Given the description of an element on the screen output the (x, y) to click on. 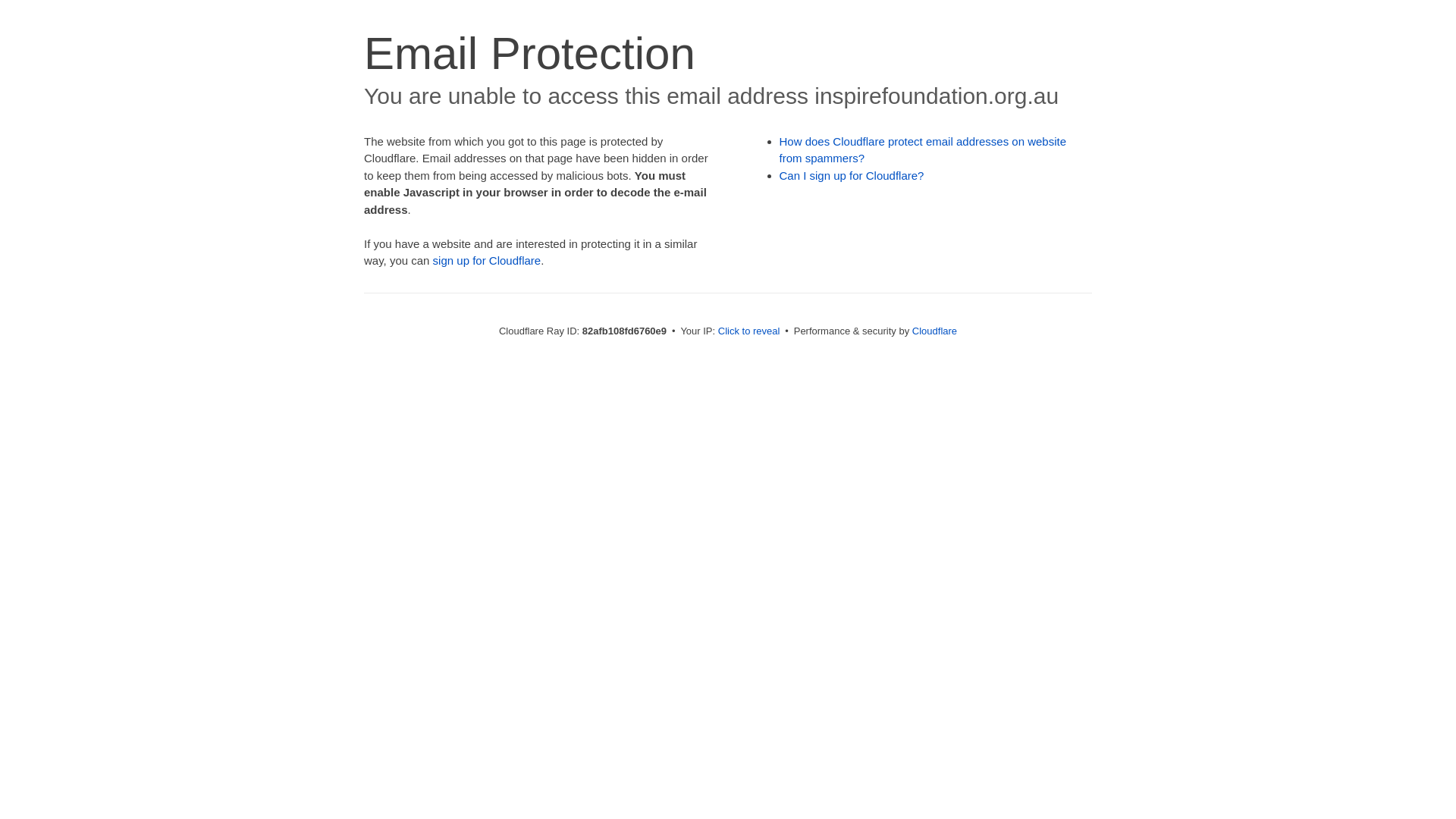
Can I sign up for Cloudflare? Element type: text (851, 175)
sign up for Cloudflare Element type: text (487, 260)
Cloudflare Element type: text (934, 330)
Click to reveal Element type: text (749, 330)
